Given the description of an element on the screen output the (x, y) to click on. 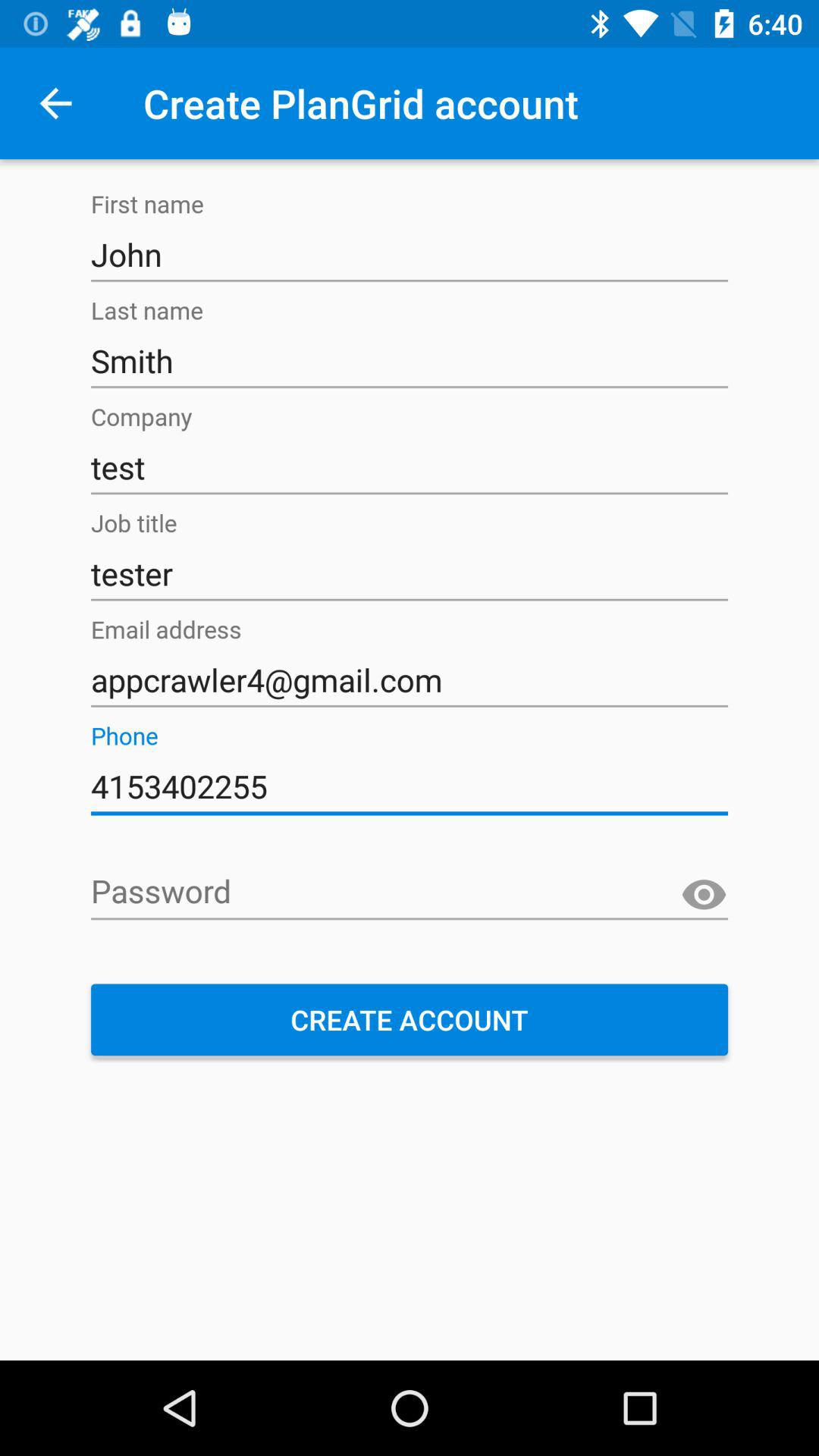
select test item (409, 467)
